Given the description of an element on the screen output the (x, y) to click on. 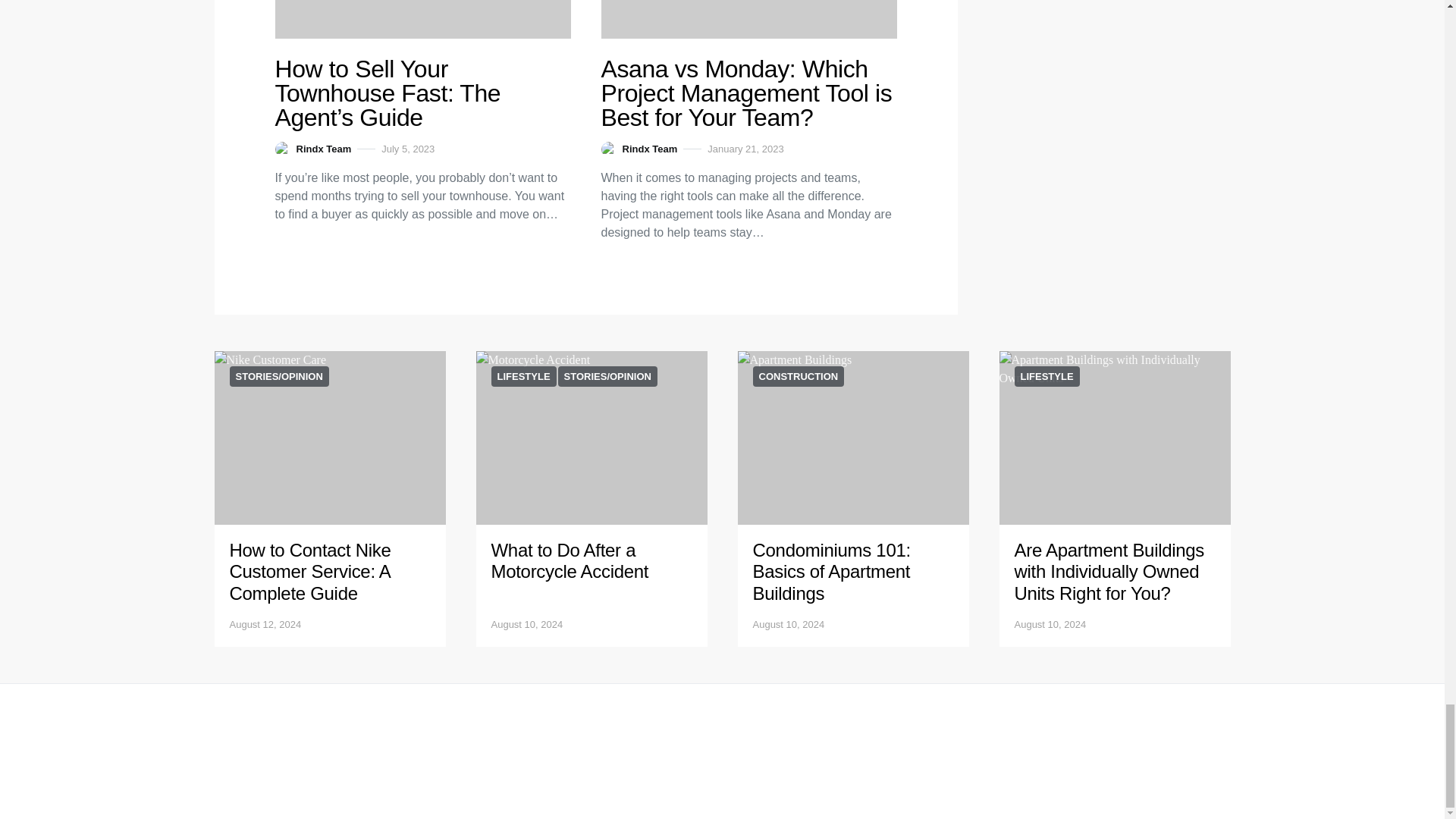
Digital Collaboration (329, 437)
Digital Collaboration (591, 437)
Digital Collaboration (747, 19)
Digital Collaboration (422, 19)
How to Contact Nike Customer Service: A Complete Guide (309, 571)
View all posts by Rindx Team (638, 149)
View all posts by Rindx Team (312, 149)
